Given the description of an element on the screen output the (x, y) to click on. 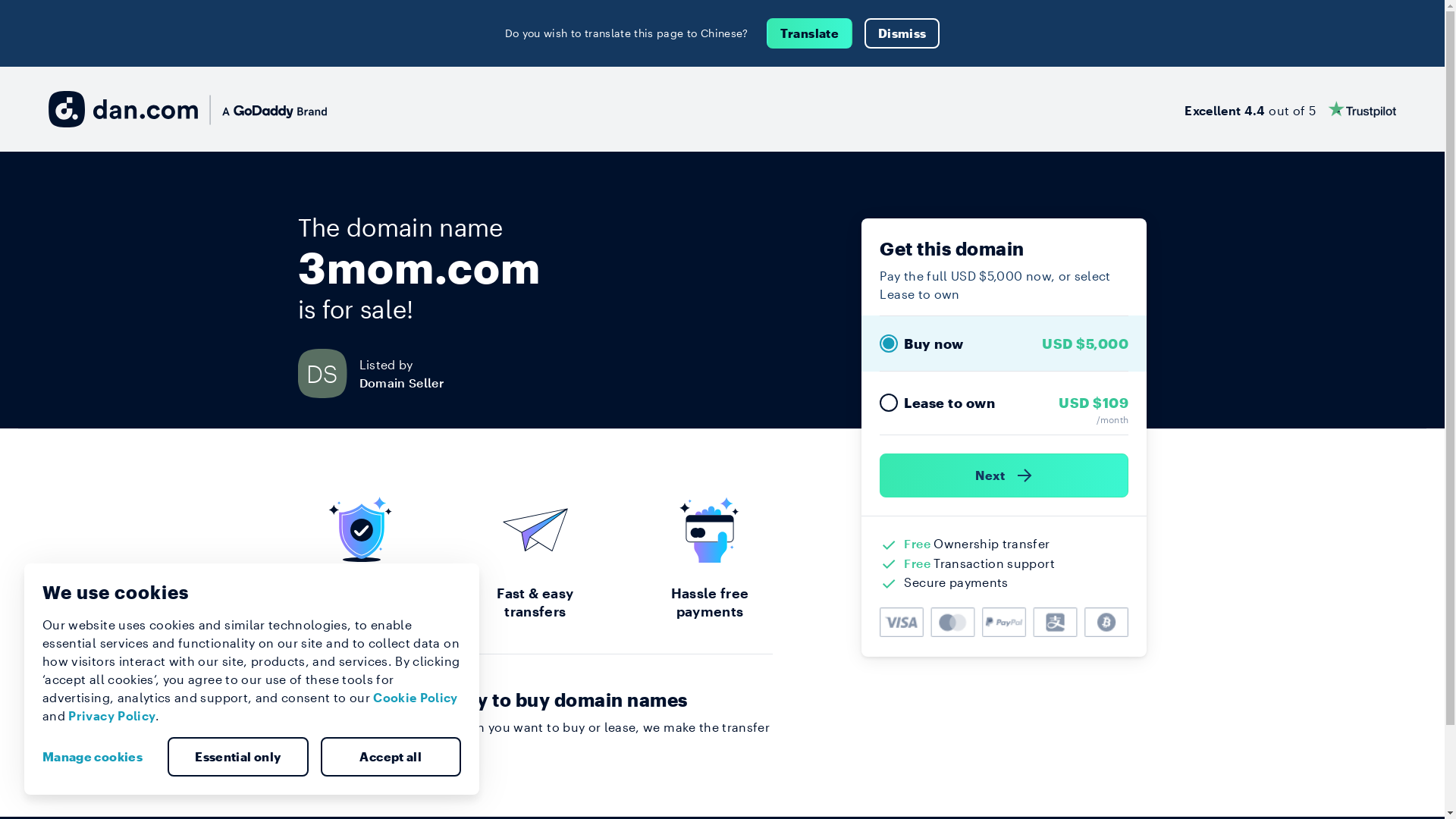
Translate Element type: text (809, 33)
Cookie Policy Element type: text (415, 697)
Privacy Policy Element type: text (111, 715)
Excellent 4.4 out of 5 Element type: text (1290, 109)
Accept all Element type: text (390, 756)
Dismiss Element type: text (901, 33)
Manage cookies Element type: text (98, 756)
Next
) Element type: text (1003, 475)
Essential only Element type: text (237, 756)
